Given the description of an element on the screen output the (x, y) to click on. 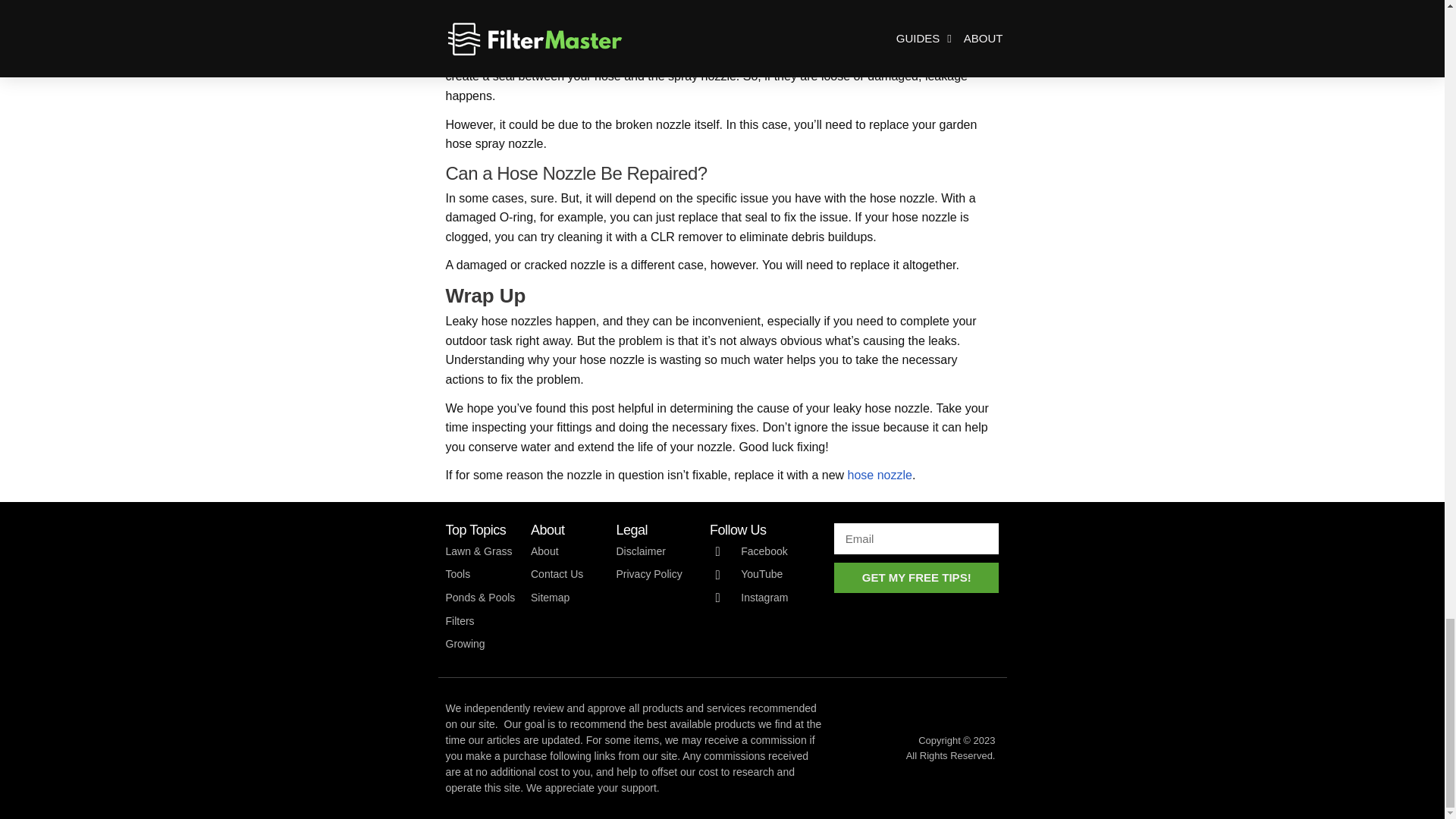
hose nozzle (879, 474)
Contact Us (566, 574)
About (566, 551)
Filters (480, 621)
Tools (480, 574)
Growing (480, 644)
